Given the description of an element on the screen output the (x, y) to click on. 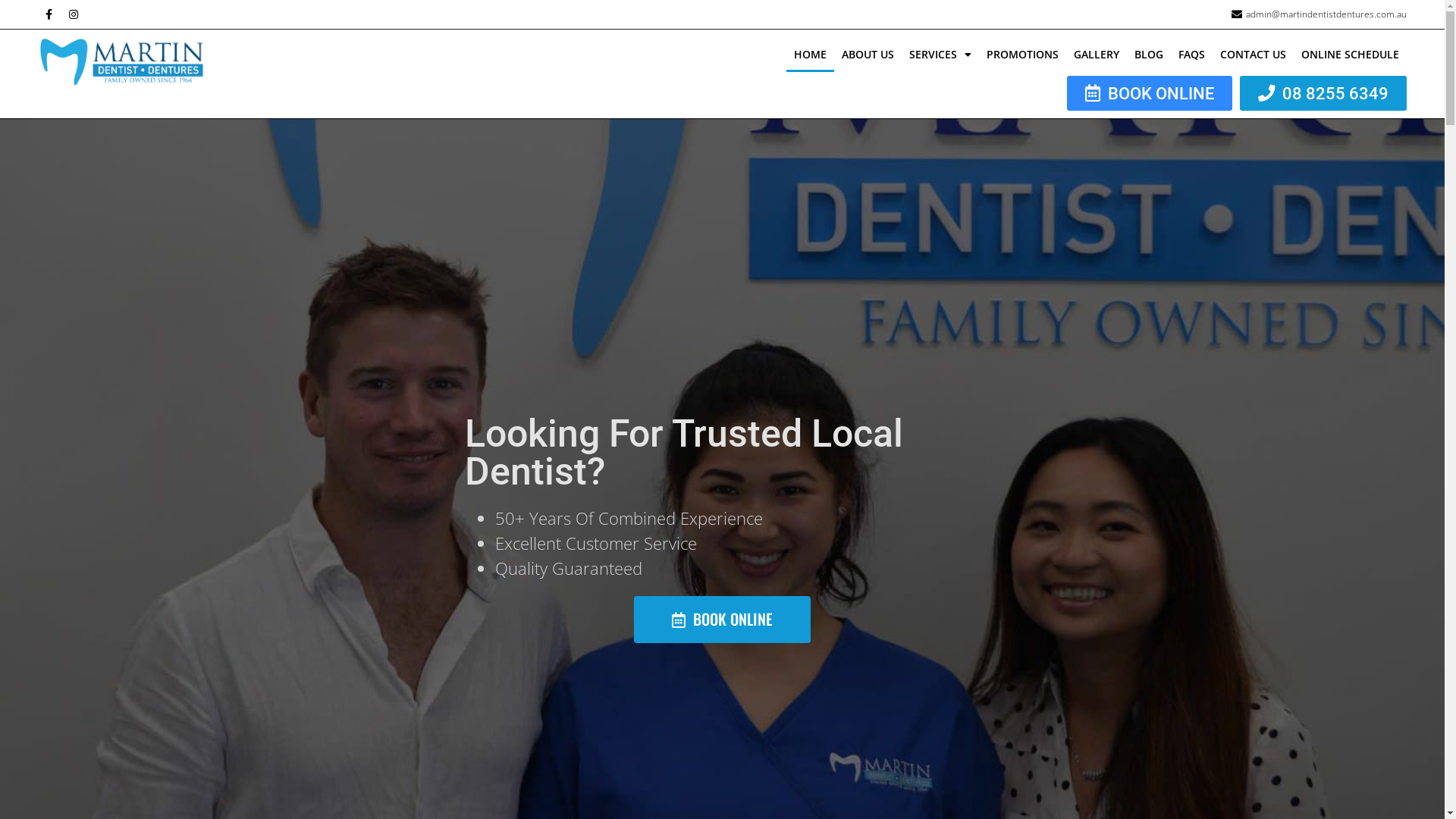
admin@martindentistdentures.com.au Element type: text (1317, 14)
PROMOTIONS Element type: text (1022, 54)
ABOUT US Element type: text (867, 54)
HOME Element type: text (810, 54)
GALLERY Element type: text (1096, 54)
SERVICES Element type: text (940, 54)
BOOK ONLINE Element type: text (721, 619)
ONLINE SCHEDULE Element type: text (1349, 54)
CONTACT US Element type: text (1252, 54)
FAQS Element type: text (1191, 54)
BLOG Element type: text (1148, 54)
08 8255 6349 Element type: text (1322, 92)
BOOK ONLINE Element type: text (1149, 92)
